Given the description of an element on the screen output the (x, y) to click on. 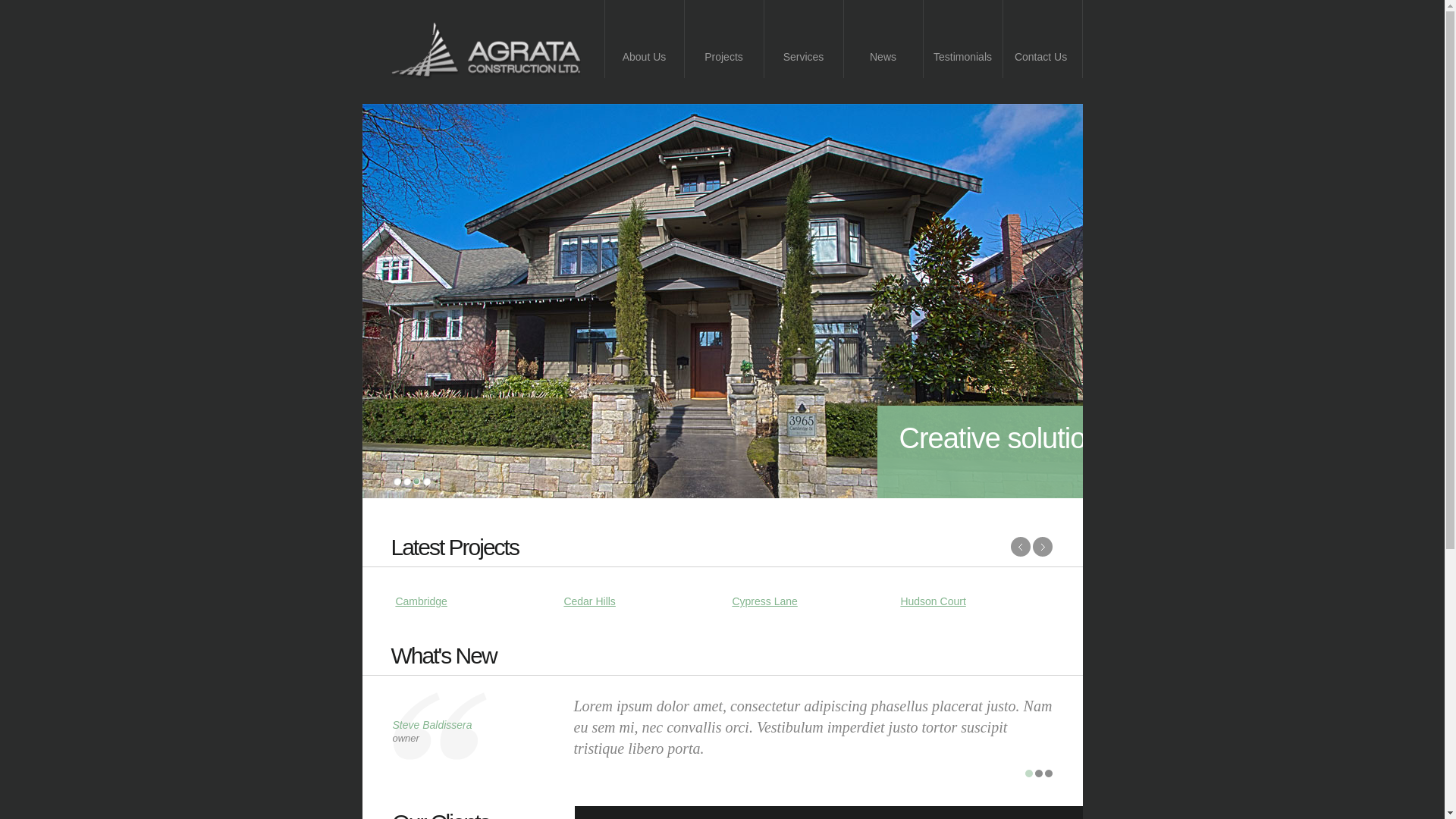
Services Element type: text (803, 39)
Testimonials Element type: text (962, 39)
Cambridge Element type: text (420, 601)
Cedar Hills Element type: text (589, 601)
Steve Baldissera Element type: text (432, 724)
Hudson Court Element type: text (932, 601)
Cypress Lane Element type: text (764, 601)
About Us Element type: text (644, 39)
Projects Element type: text (723, 39)
Contact Us  Element type: text (1041, 39)
News Element type: text (882, 39)
